Given the description of an element on the screen output the (x, y) to click on. 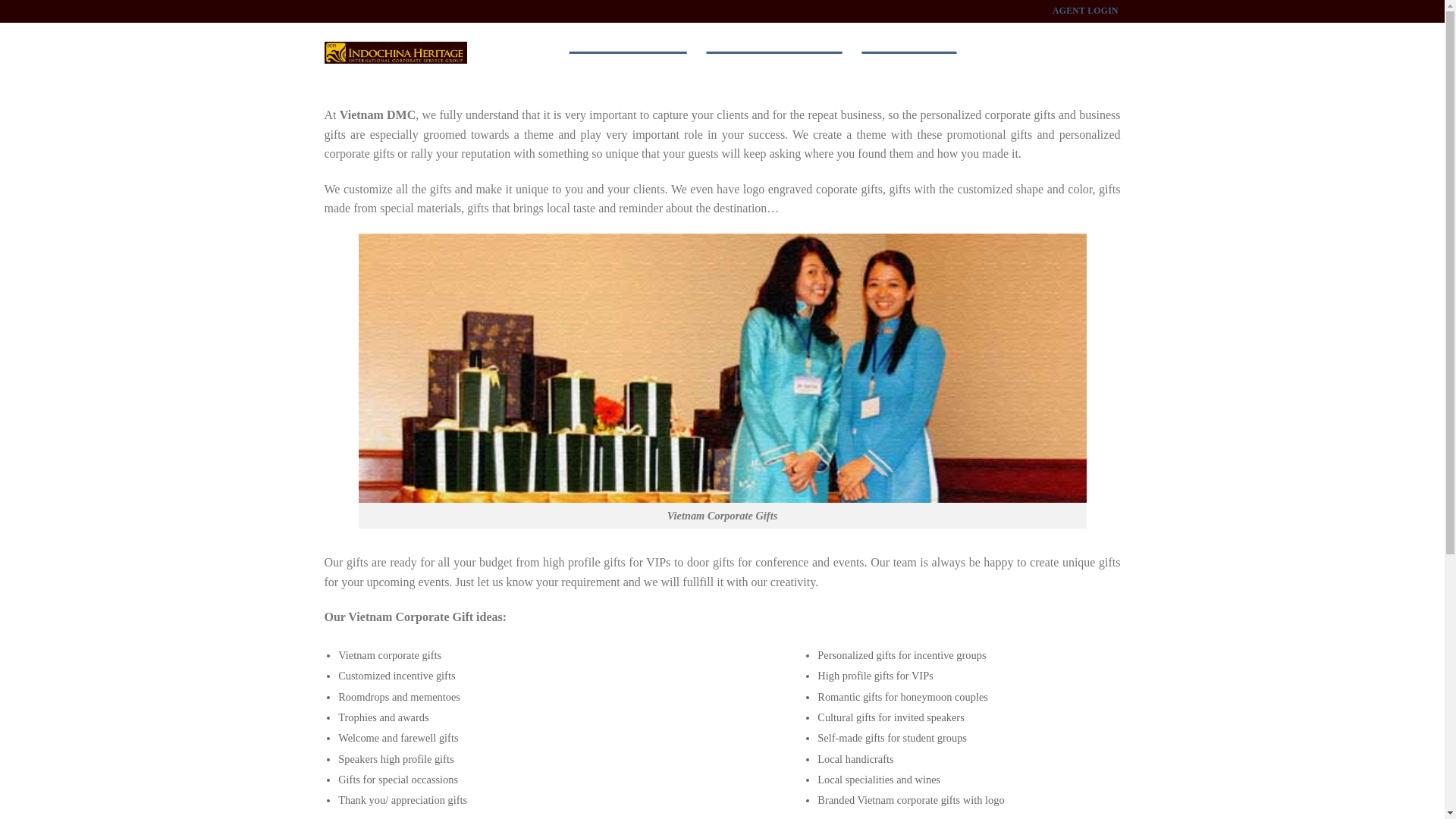
Vietnam DMC (529, 37)
TEAMBUILDING (908, 37)
AGENT LOGIN (1084, 11)
EVENTS MANAGEMENT (773, 37)
EXCLUSIVE TRAVEL (627, 37)
Destination updates (1005, 37)
HOME (529, 37)
Get in touch with us! (1083, 37)
